Given the description of an element on the screen output the (x, y) to click on. 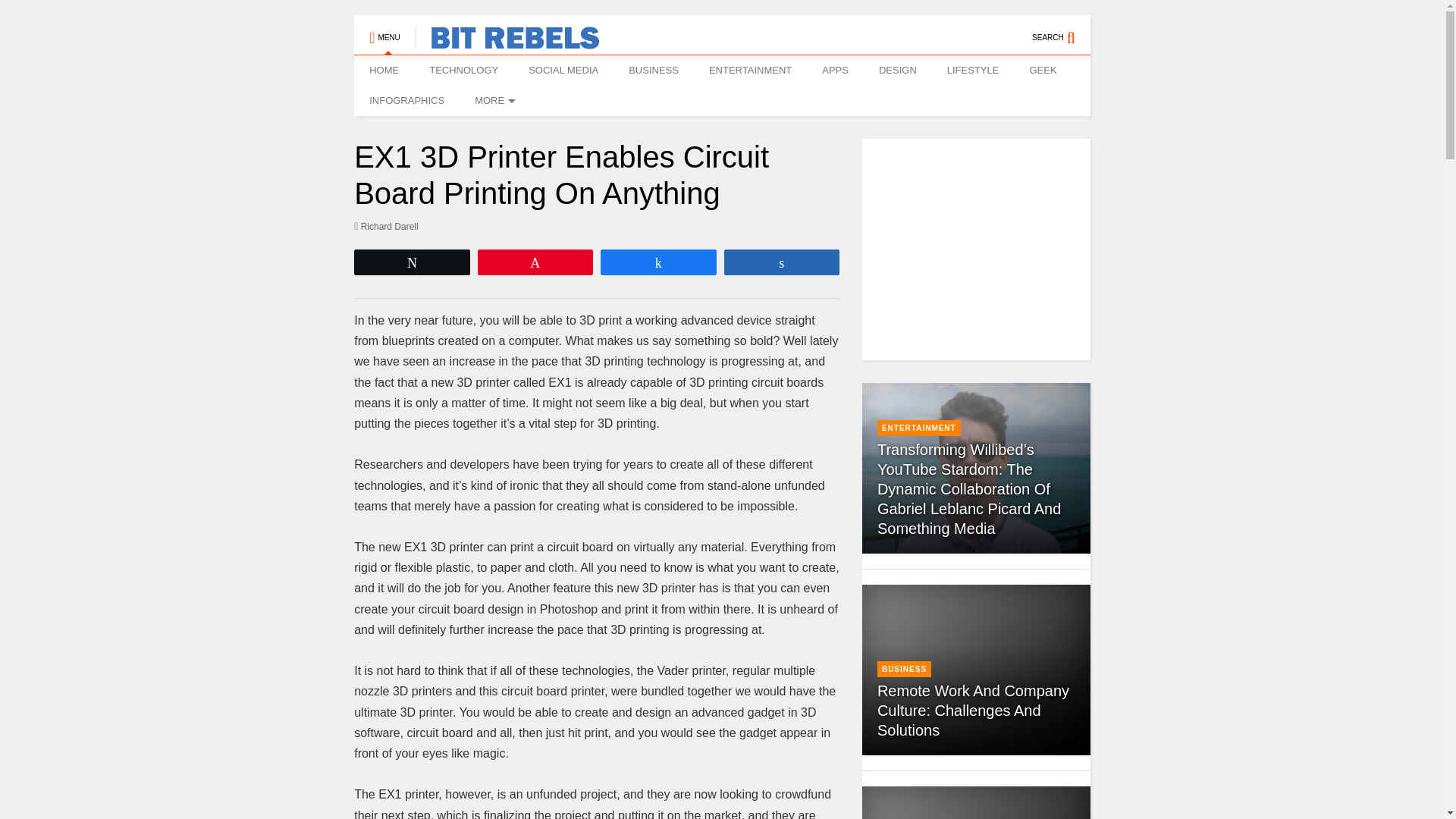
GEEK (1042, 70)
LIFESTYLE (972, 70)
MENU (383, 30)
MORE (493, 100)
BUSINESS (653, 70)
APPS (834, 70)
Bit Rebels (506, 42)
Richard Darell (386, 226)
SOCIAL MEDIA (562, 70)
TECHNOLOGY (463, 70)
HOME (383, 70)
ENTERTAINMENT (750, 70)
SEARCH (1061, 30)
DESIGN (897, 70)
INFOGRAPHICS (406, 100)
